Given the description of an element on the screen output the (x, y) to click on. 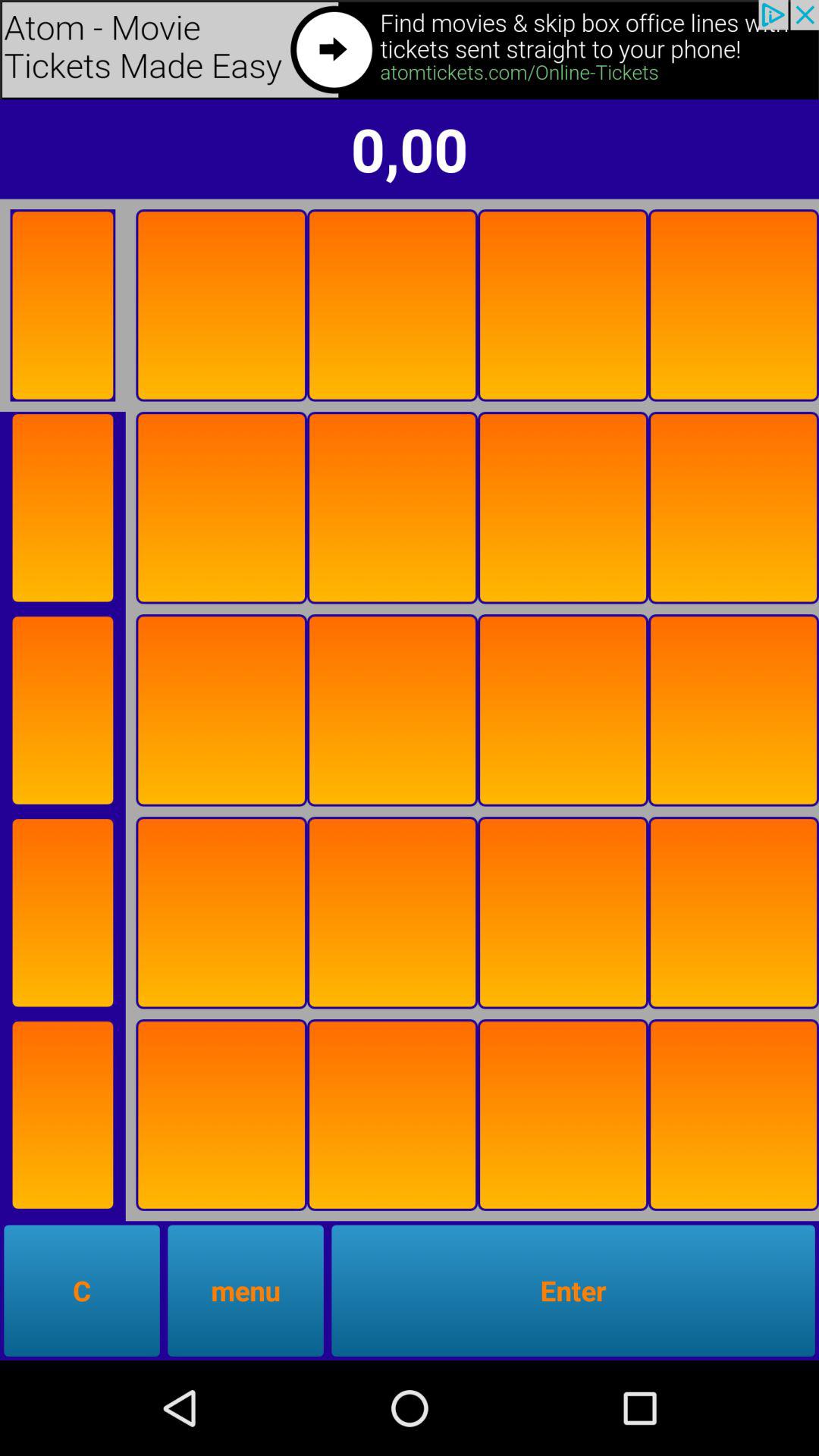
flip card (62, 912)
